Given the description of an element on the screen output the (x, y) to click on. 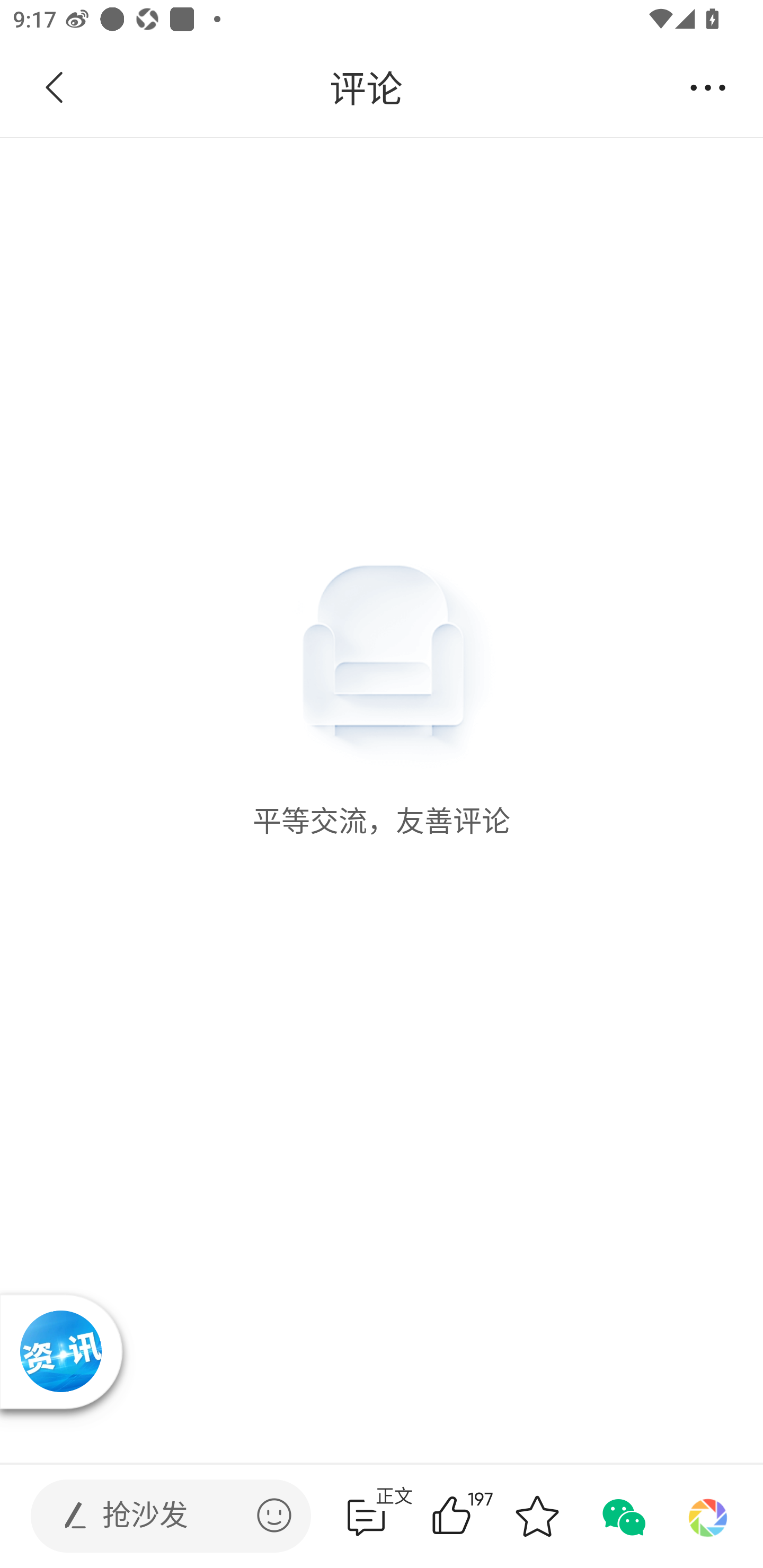
评论 (365, 87)
分享  (707, 87)
 返回 (54, 87)
平等交流，友善评论 (381, 487)
播放器 (60, 1351)
发表评论  抢沙发 发表评论  (155, 1516)
抢评论  抢 评论 (365, 1516)
197赞 (476, 1516)
收藏  (536, 1516)
分享到微信  (622, 1516)
分享到朋友圈 (707, 1516)
 (274, 1515)
